Given the description of an element on the screen output the (x, y) to click on. 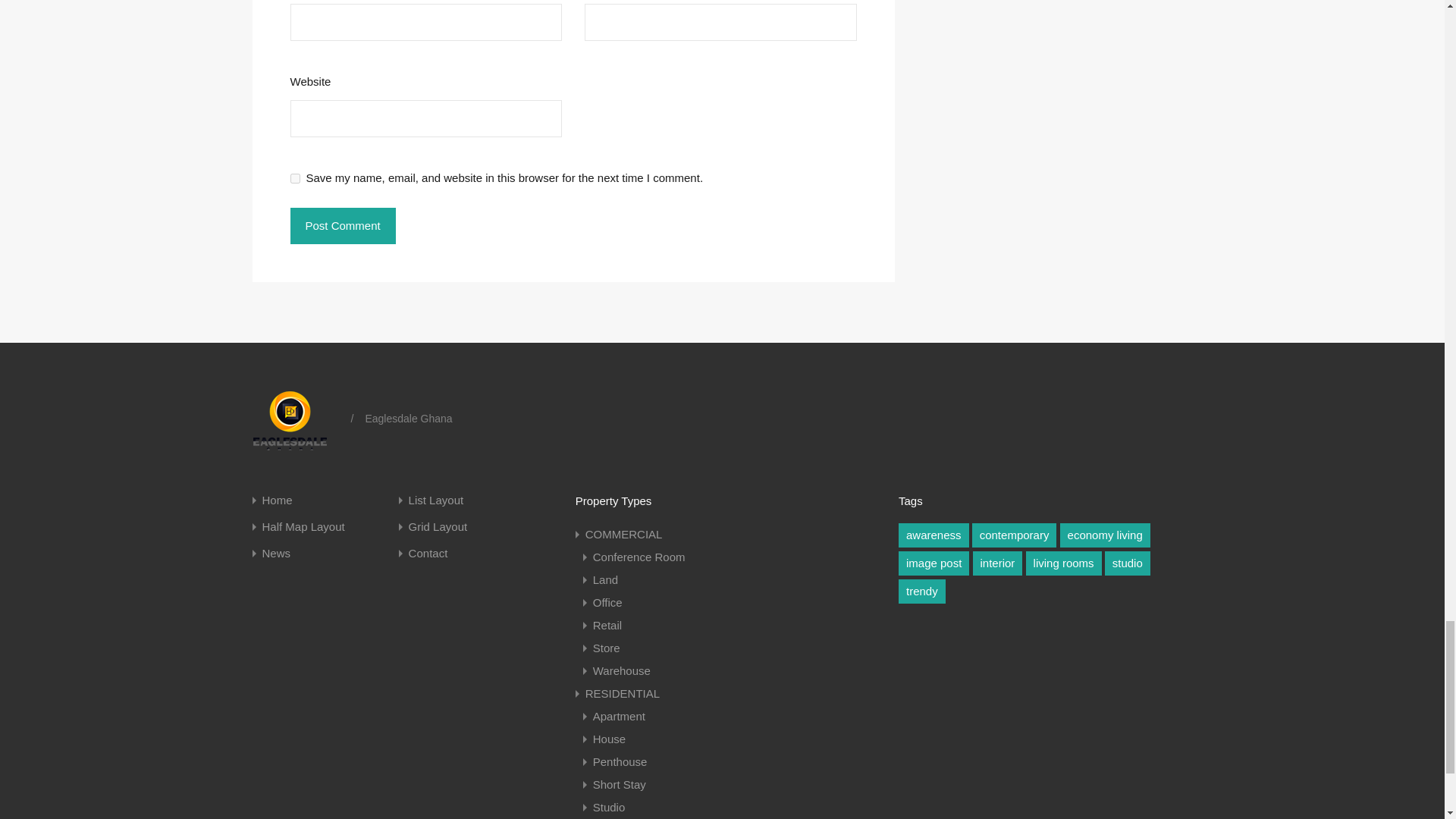
yes (294, 178)
Eaglesdale Ghana (295, 418)
Post Comment (341, 226)
